Given the description of an element on the screen output the (x, y) to click on. 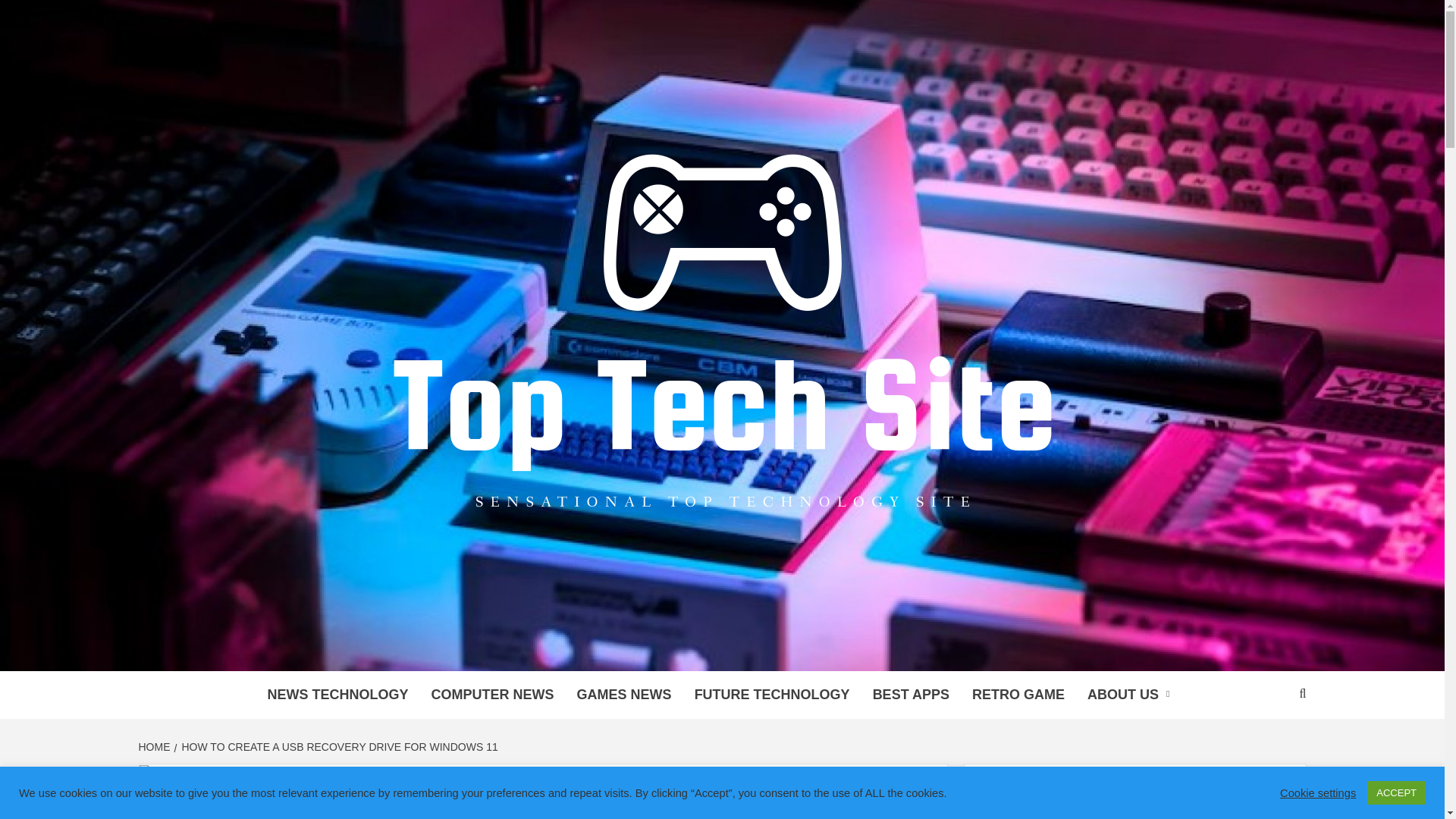
HOW TO CREATE A USB RECOVERY DRIVE FOR WINDOWS 11 (338, 746)
RETRO GAME (1017, 694)
BEST APPS (910, 694)
TOP TECHNOLOGY SITE (590, 651)
How to create a USB recovery drive for Windows 11 (302, 774)
COMPUTER RECOVERY (223, 815)
Search (1248, 788)
NEWS TECHNOLOGY (338, 694)
COMPUTER NEWS (493, 694)
ABOUT US (1131, 694)
